Given the description of an element on the screen output the (x, y) to click on. 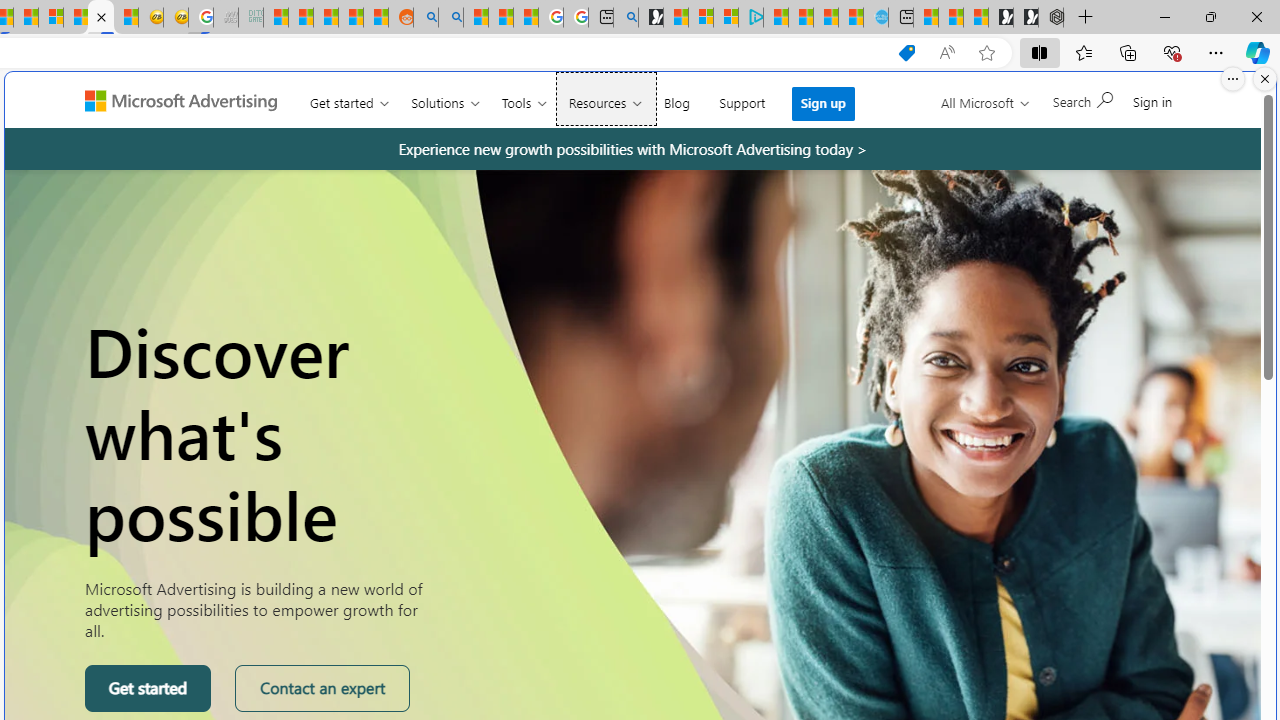
Get started (148, 688)
Bing Real Estate - Home sales and rental listings (625, 17)
Get the Copilot app  (1117, 109)
